Given the description of an element on the screen output the (x, y) to click on. 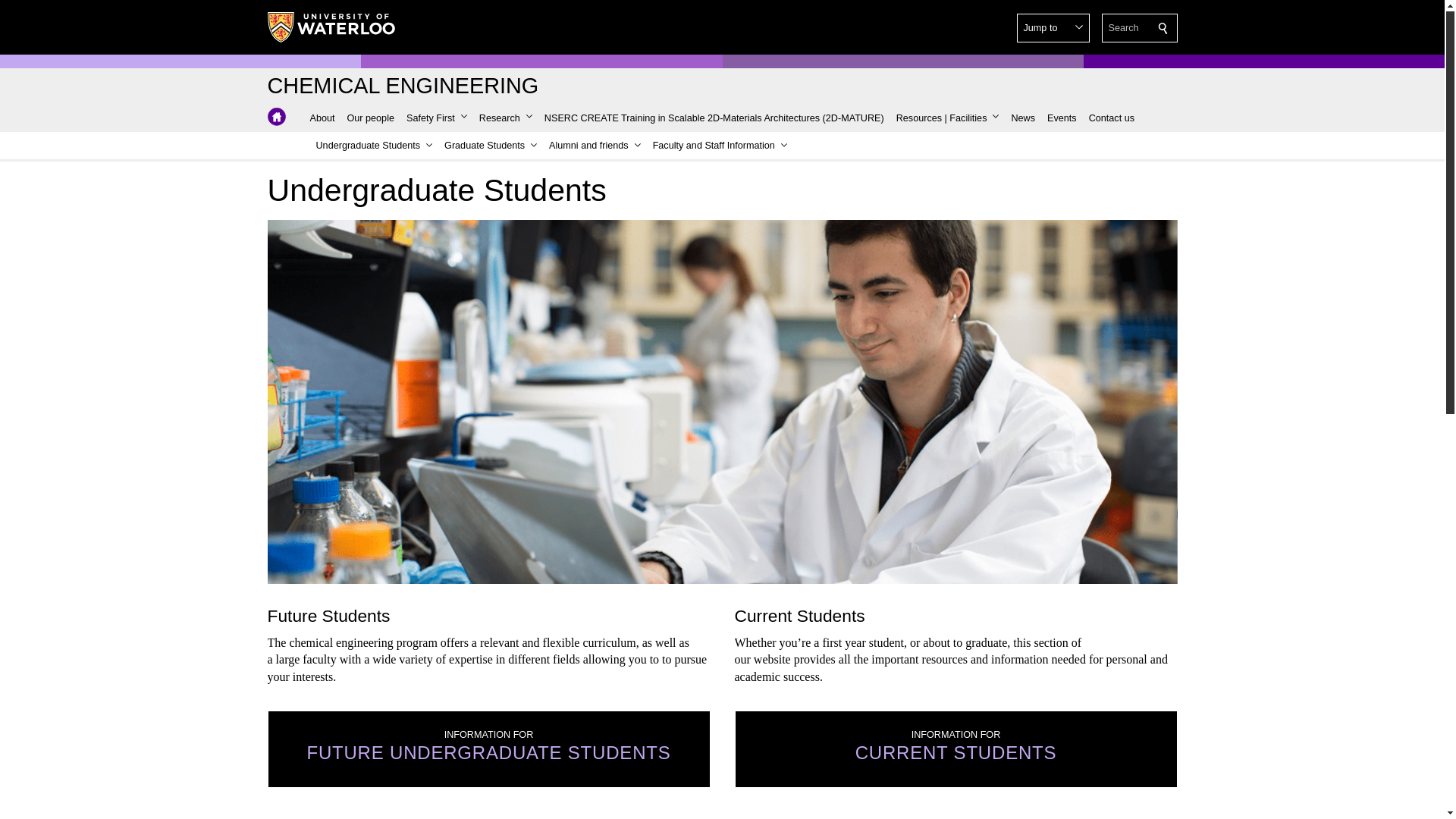
Search (1163, 27)
Search (1163, 27)
CHEMICAL ENGINEERING (402, 85)
Chemical Engineering Home (275, 116)
Safety First (436, 117)
Our people (370, 117)
Research (505, 117)
Chemical Engineering Home (402, 85)
About (321, 117)
University of Waterloo Home (331, 27)
